Given the description of an element on the screen output the (x, y) to click on. 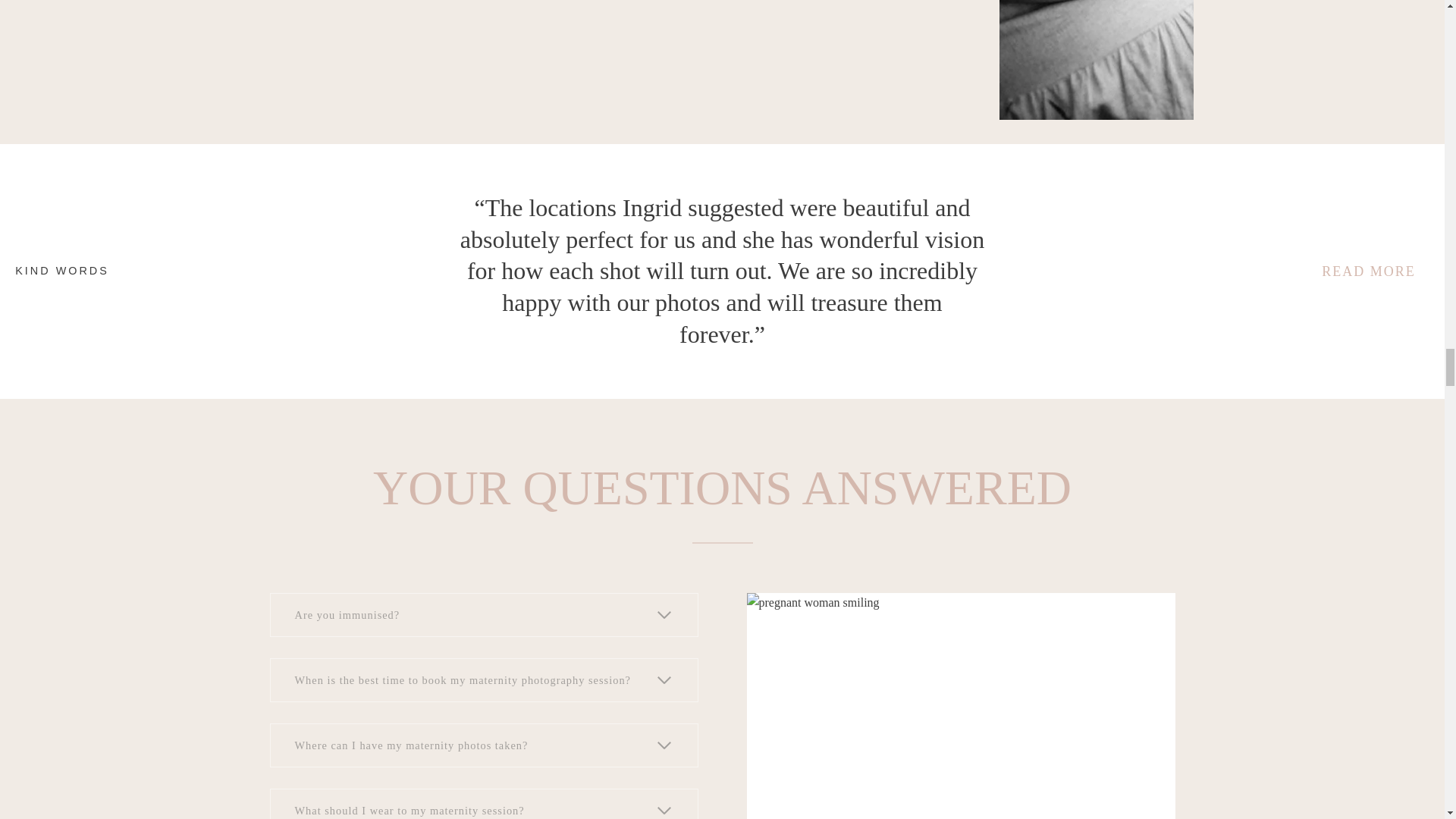
Are you immunised? (483, 614)
Where can I have my maternity photos taken? (483, 745)
READ MORE (1368, 271)
What should I wear to my maternity session? (483, 803)
